Given the description of an element on the screen output the (x, y) to click on. 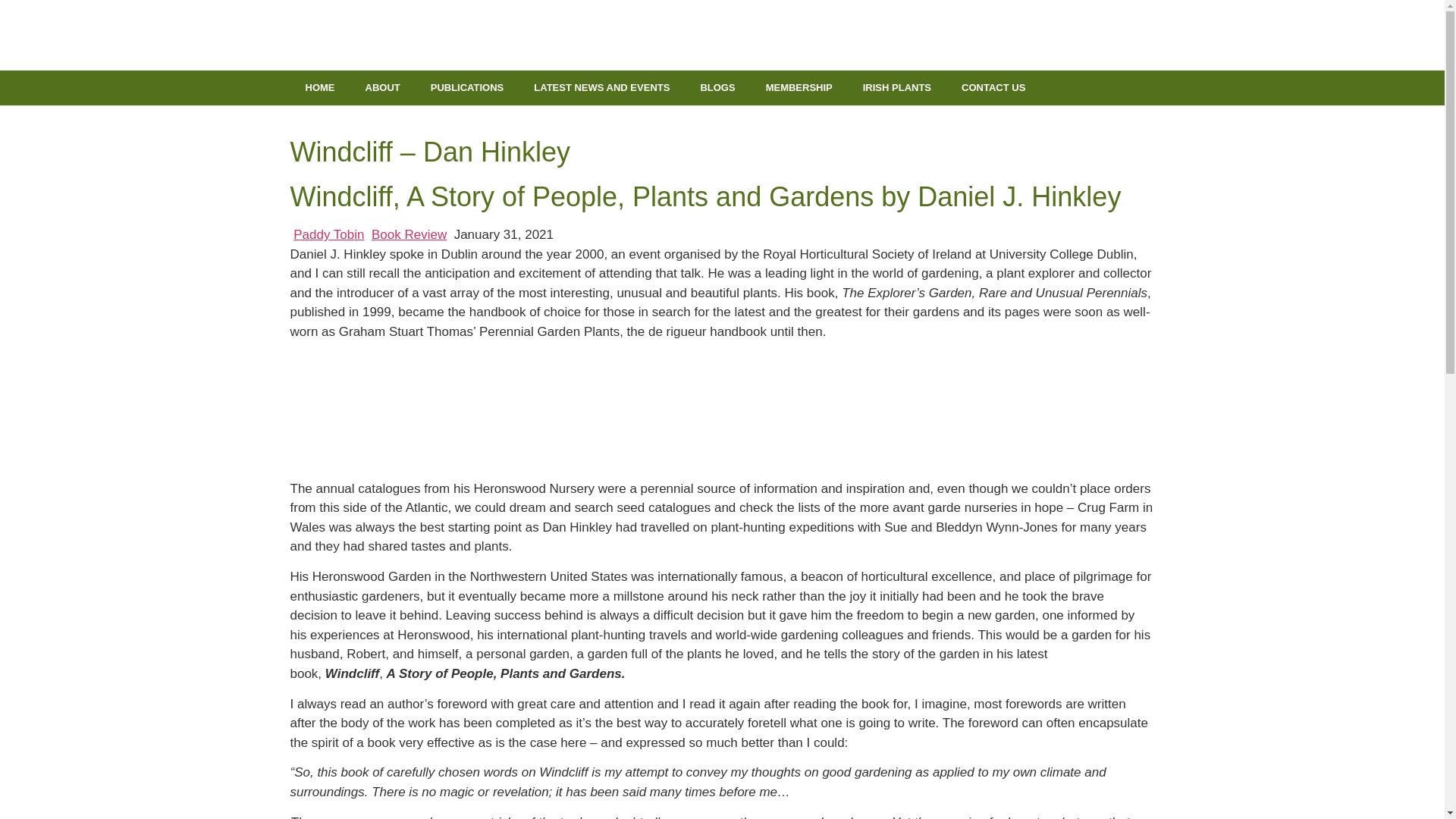
IRISH PLANTS (896, 87)
MEMBERSHIP (799, 87)
CONTACT US (993, 87)
Posts by Paddy Tobin (329, 234)
BLOGS (716, 87)
HOME (319, 87)
ABOUT (382, 87)
PUBLICATIONS (466, 87)
LATEST NEWS AND EVENTS (601, 87)
